Given the description of an element on the screen output the (x, y) to click on. 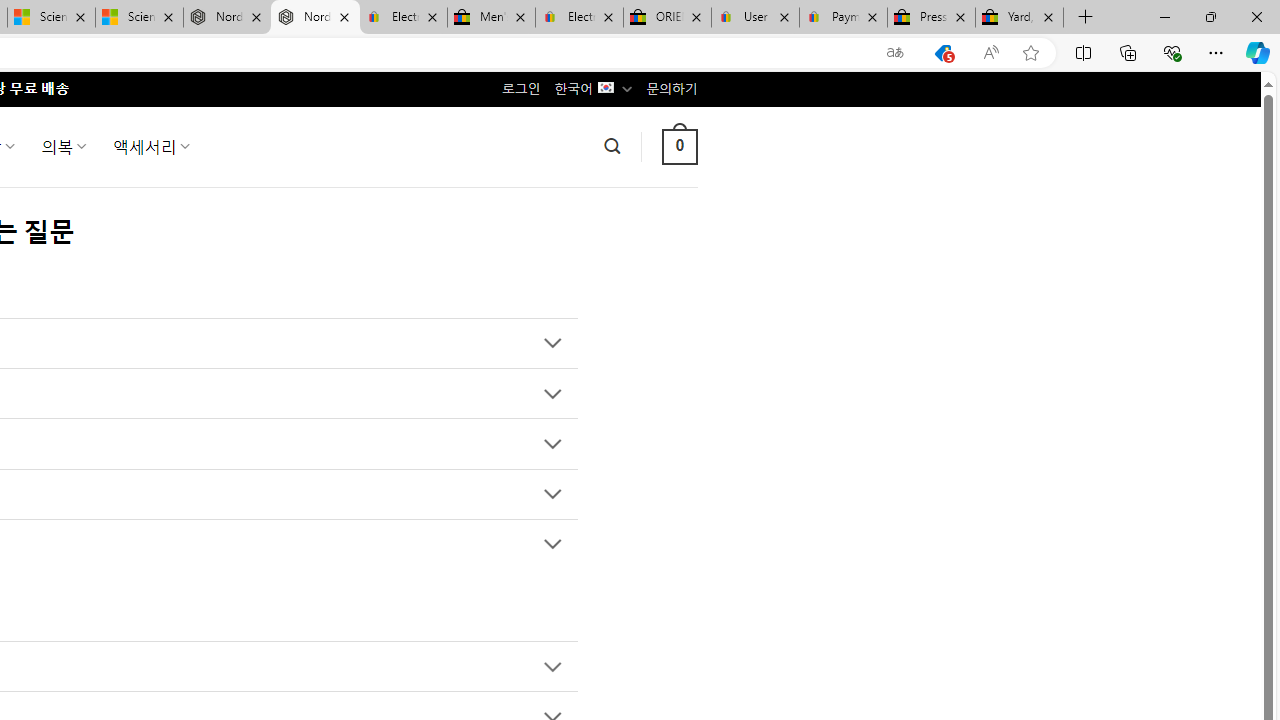
Nordace - Summer Adventures 2024 (227, 17)
Show translate options (895, 53)
Press Room - eBay Inc. (931, 17)
